Given the description of an element on the screen output the (x, y) to click on. 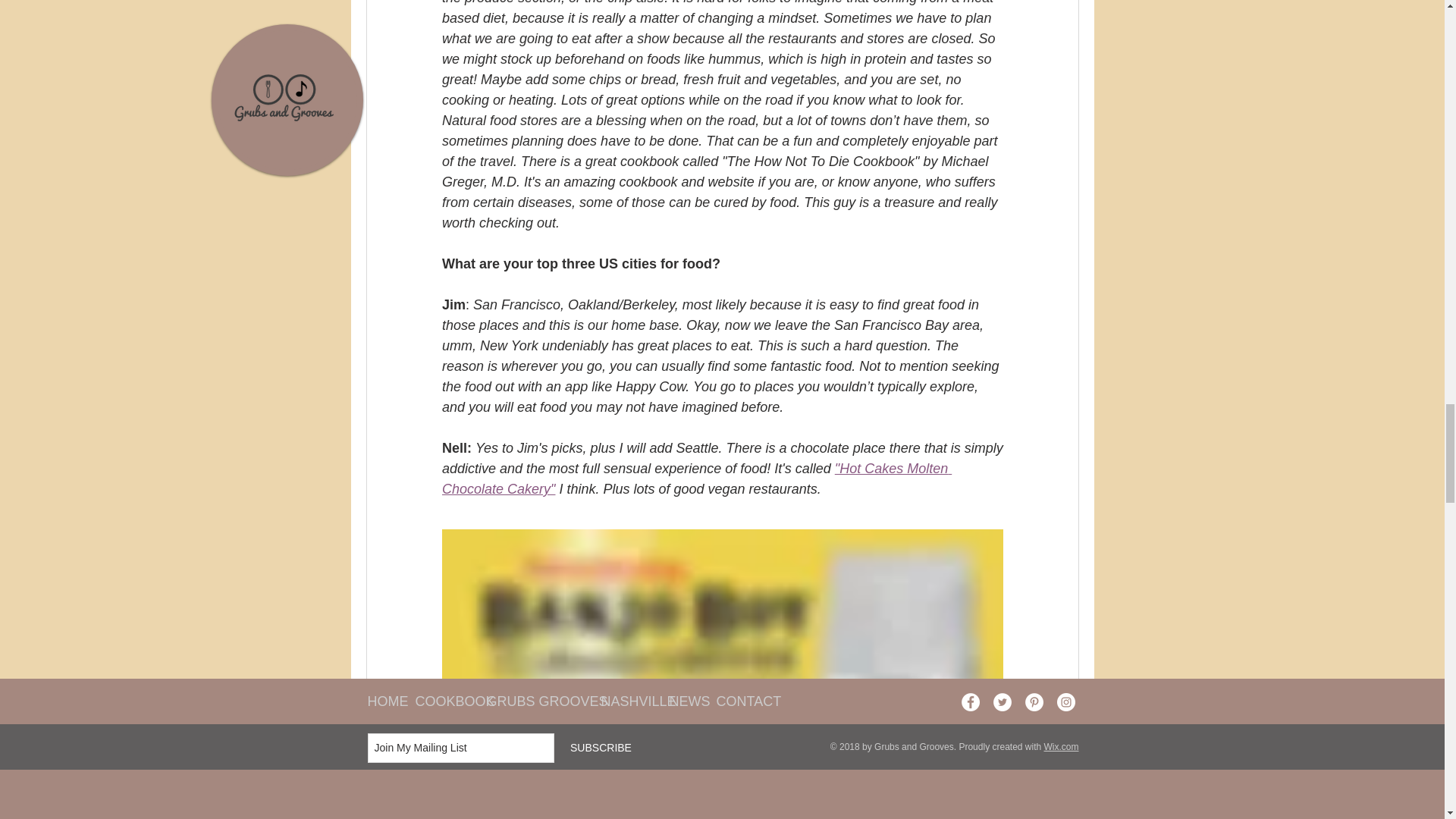
"Hot Cakes Molten Chocolate Cakery" (695, 478)
